Given the description of an element on the screen output the (x, y) to click on. 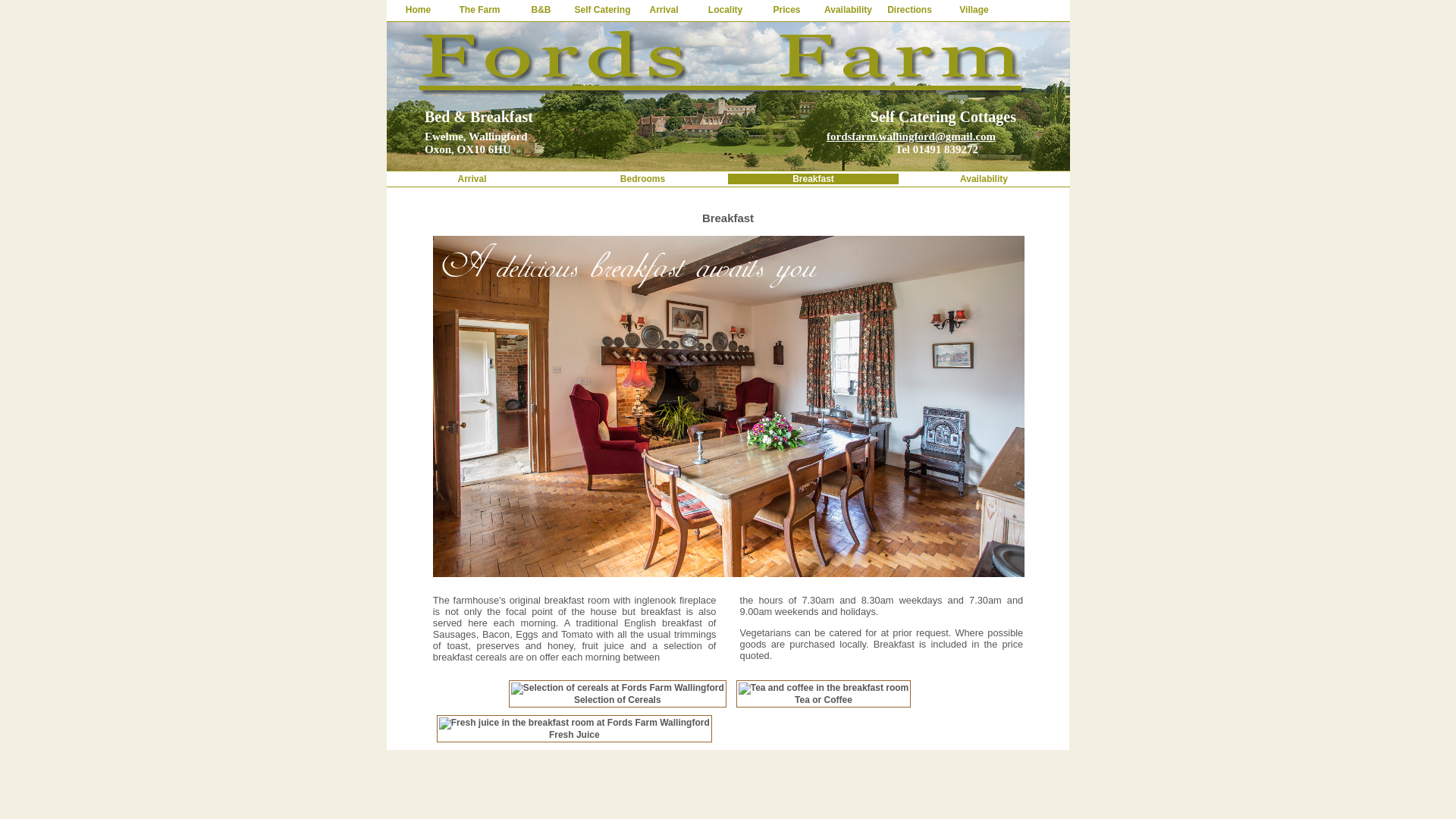
Bed and breakfast Wallingford Oxfordshire (728, 96)
The Farm (479, 9)
Home (417, 9)
Arrival (663, 9)
Fresh juice in the breakfast room at Fords Farm Wallingford (574, 723)
Self Catering (602, 9)
Bedrooms (642, 178)
Availability (847, 9)
Prices (785, 9)
Arrival (472, 178)
Village (973, 9)
Directions (909, 9)
Tea and coffee in the breakfast room (823, 688)
Selection of cereals at Fords Farm Wallingford (617, 688)
Availability (983, 178)
